Given the description of an element on the screen output the (x, y) to click on. 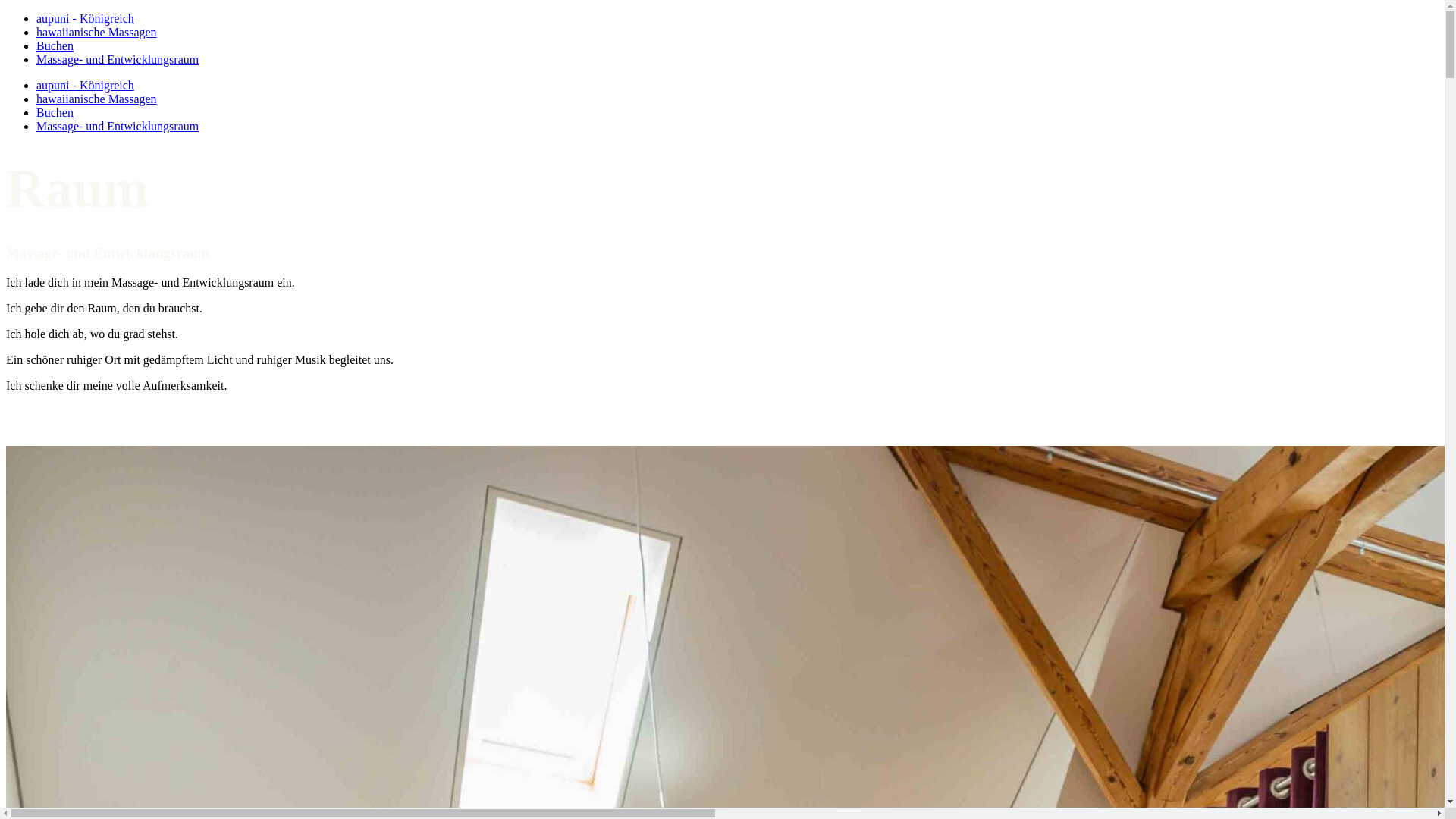
Buchen Element type: text (54, 45)
Buchen Element type: text (54, 112)
hawaiianische Massagen Element type: text (96, 98)
Massage- und Entwicklungsraum Element type: text (117, 59)
hawaiianische Massagen Element type: text (96, 31)
Massage- und Entwicklungsraum Element type: text (117, 125)
